Given the description of an element on the screen output the (x, y) to click on. 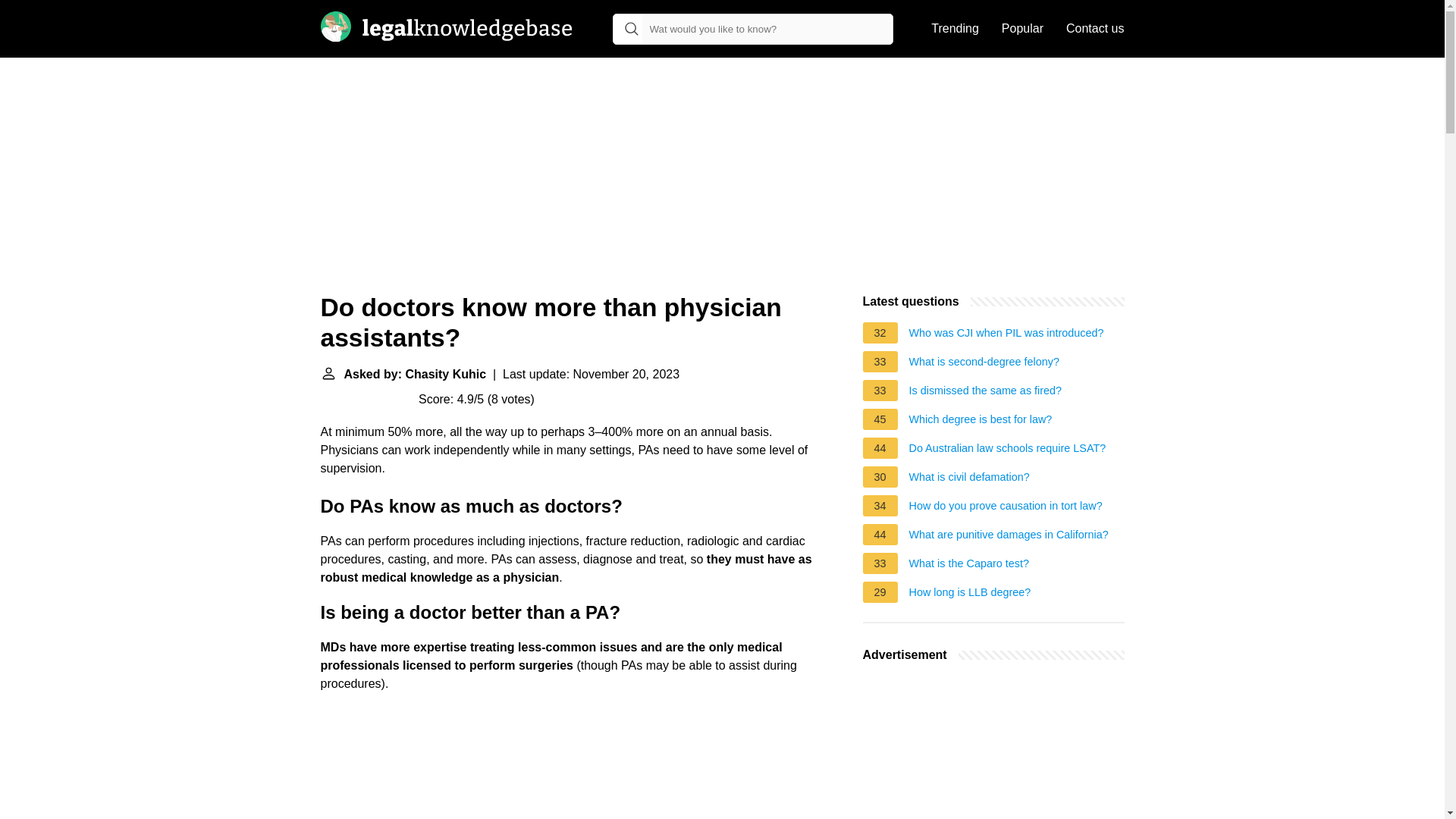
What is the Caparo test? (968, 565)
What are punitive damages in California? (1008, 536)
Which degree is best for law? (980, 421)
Trending (954, 28)
What is second-degree felony? (983, 363)
How long is LLB degree? (969, 594)
Do Australian law schools require LSAT? (1007, 450)
Who was CJI when PIL was introduced? (1005, 334)
What is civil defamation? (968, 478)
Contact us (1094, 28)
Popular (1022, 28)
How do you prove causation in tort law? (1005, 507)
Is dismissed the same as fired? (985, 392)
